Given the description of an element on the screen output the (x, y) to click on. 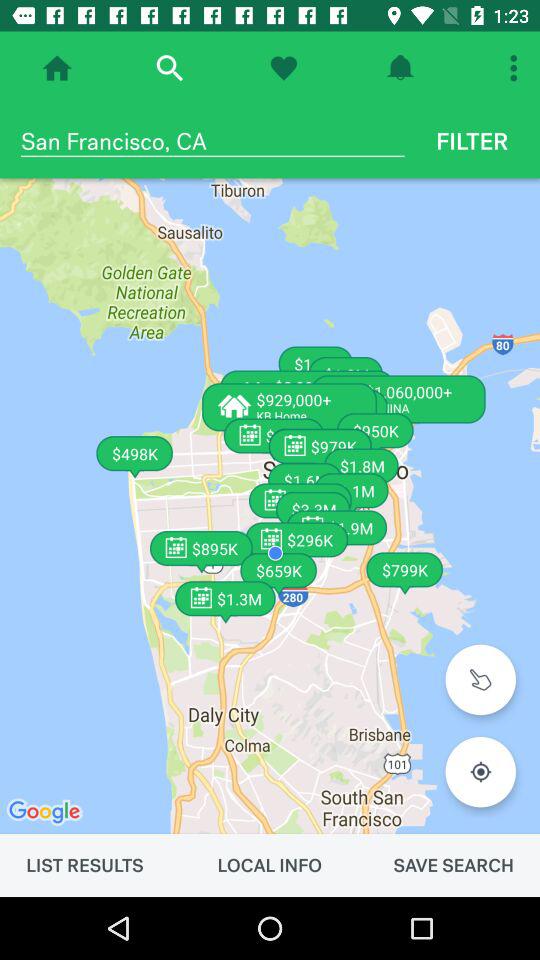
open icon to the right of san francisco, ca item (472, 141)
